Given the description of an element on the screen output the (x, y) to click on. 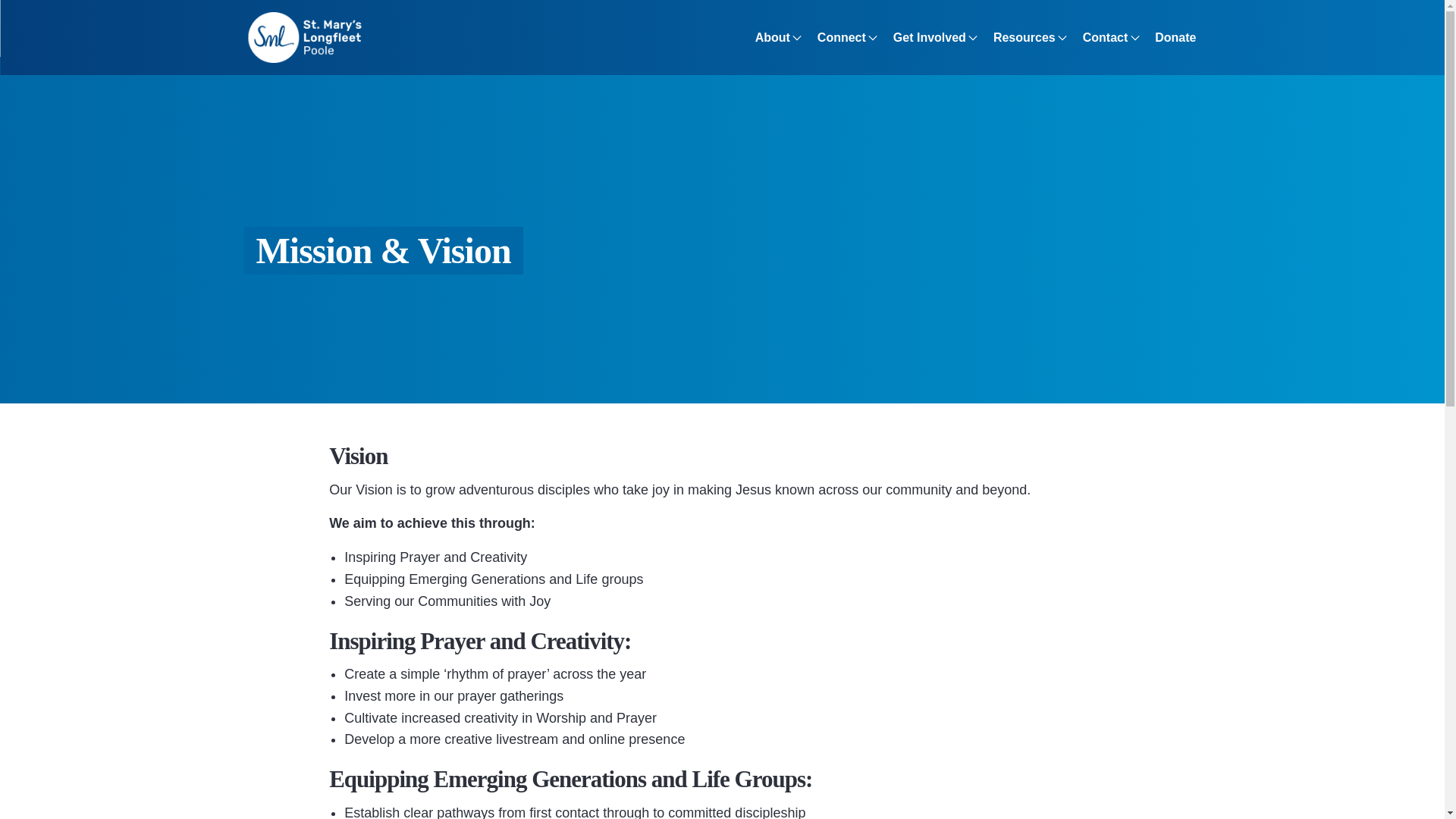
About (772, 37)
Connect (841, 37)
